Given the description of an element on the screen output the (x, y) to click on. 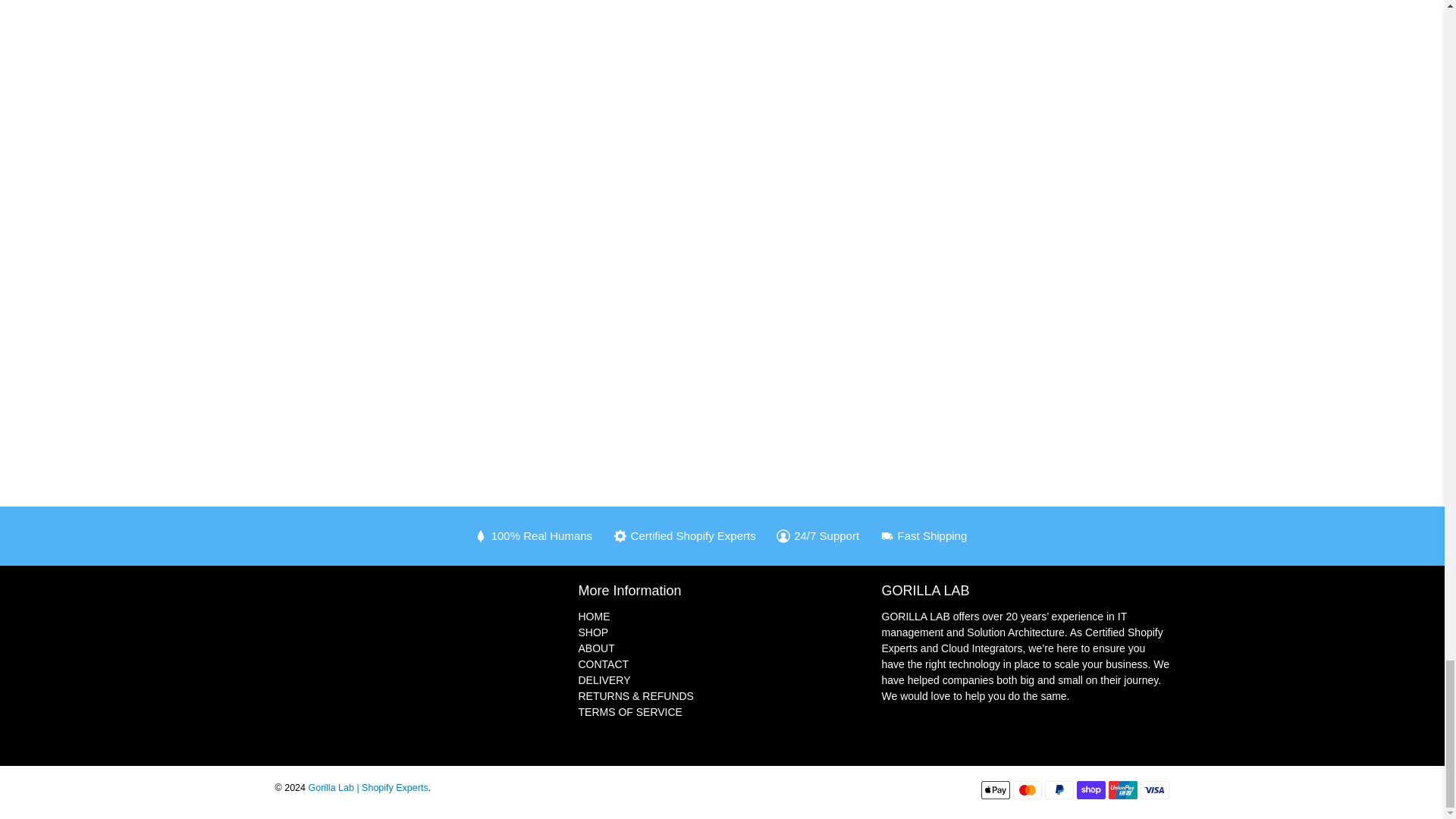
PayPal (1059, 790)
Mastercard (1027, 790)
Union Pay (1122, 790)
Apple Pay (995, 790)
Shop Pay (1091, 790)
Visa (1154, 790)
